Given the description of an element on the screen output the (x, y) to click on. 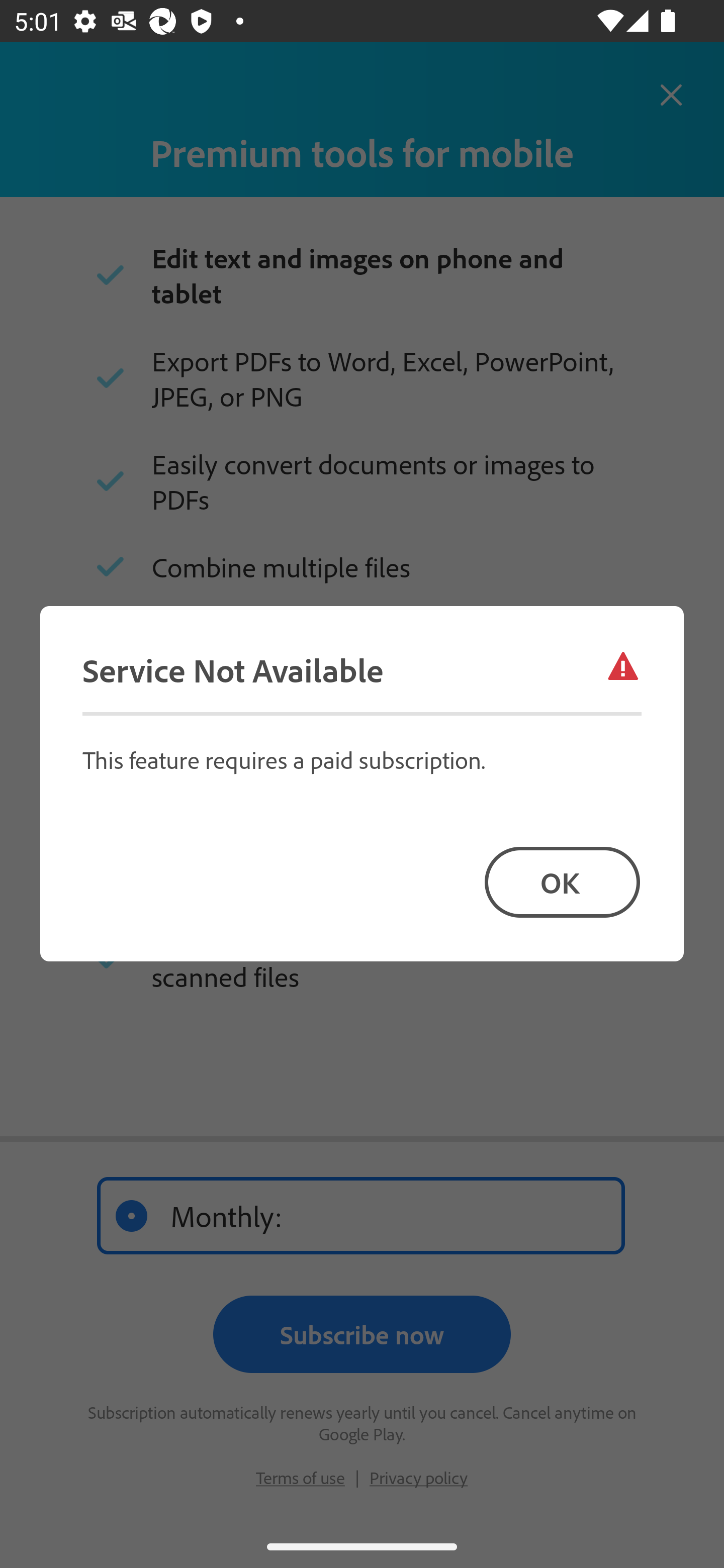
OK (561, 881)
